Given the description of an element on the screen output the (x, y) to click on. 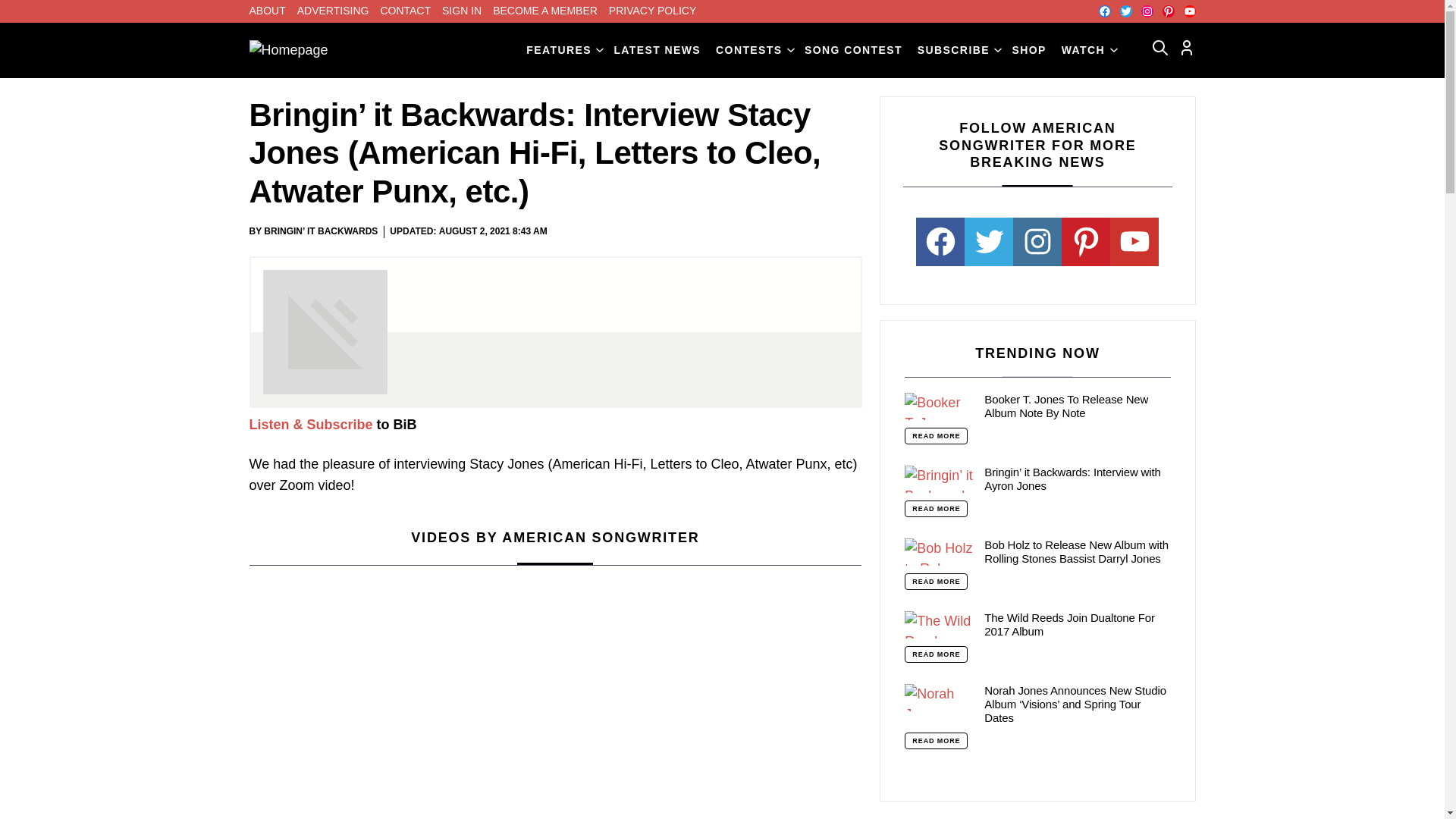
PRIVACY POLICY (651, 10)
ABOUT (266, 10)
Facebook (1103, 10)
August 2, 2021 8:43 am (493, 232)
Pinterest (1167, 10)
Twitter (1125, 10)
Instagram (1146, 10)
YouTube (1188, 10)
Posts by Bringin' It Backwards (320, 231)
CONTACT (405, 10)
BECOME A MEMBER (544, 10)
ADVERTISING (333, 10)
SIGN IN (461, 10)
